Given the description of an element on the screen output the (x, y) to click on. 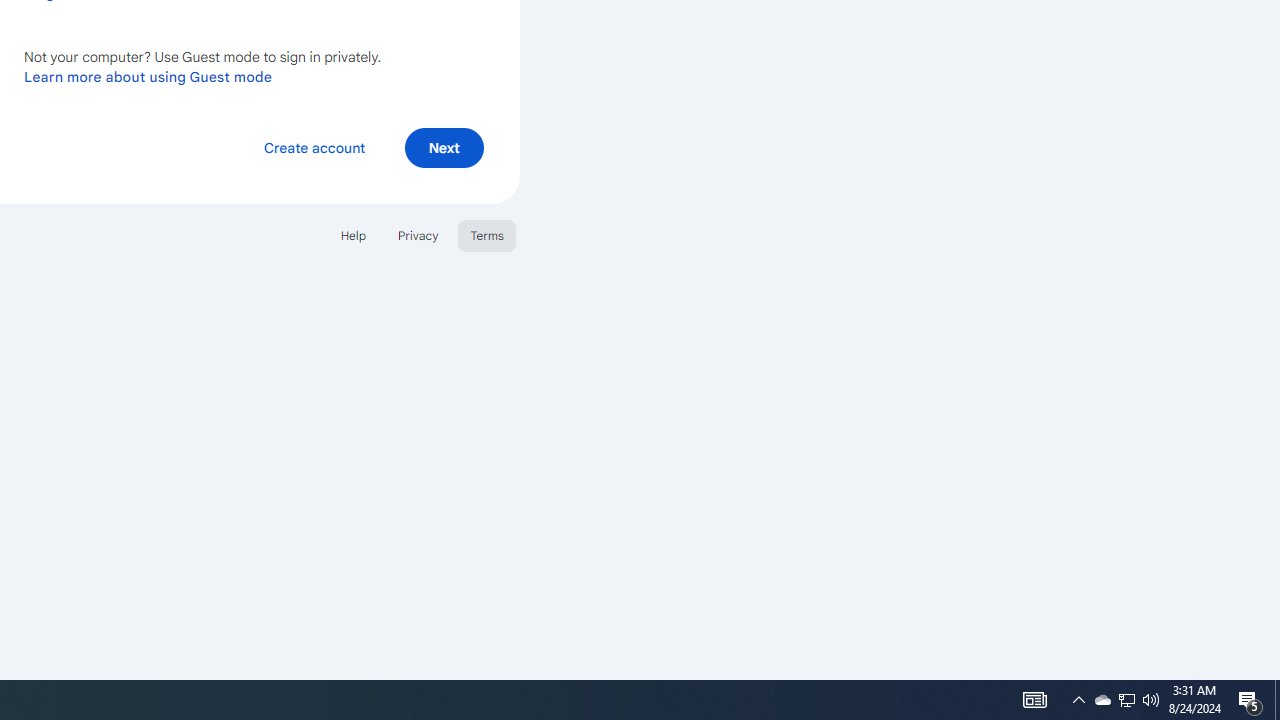
Next (443, 146)
Privacy (417, 234)
Terms (486, 234)
Create account (314, 146)
Learn more about using Guest mode (148, 76)
Help (352, 234)
